Given the description of an element on the screen output the (x, y) to click on. 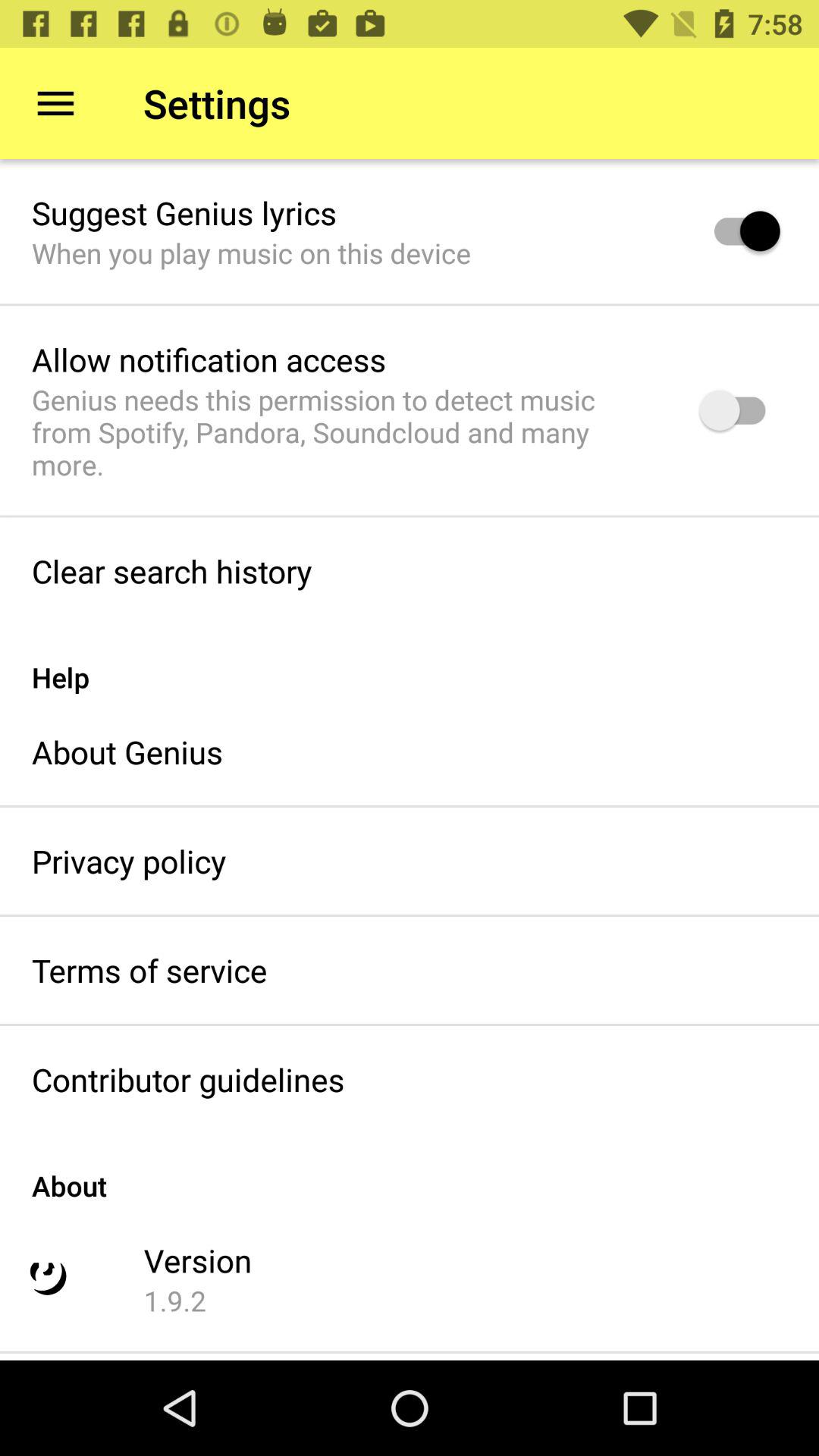
scroll until version (197, 1259)
